Given the description of an element on the screen output the (x, y) to click on. 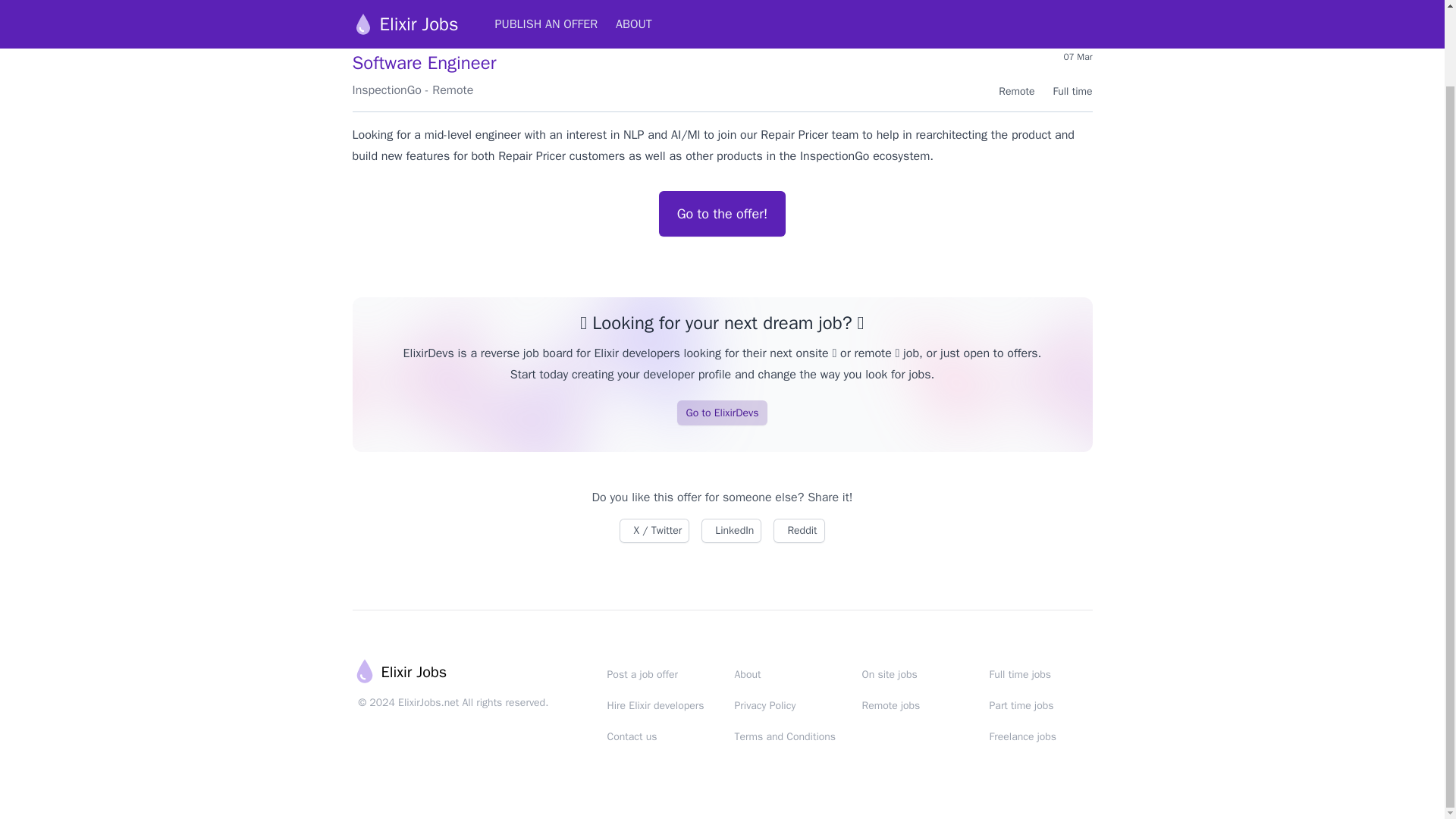
About (746, 674)
Part time jobs (1020, 705)
Privacy Policy (763, 705)
Post a job offer (642, 674)
Reddit (798, 530)
Elixir Jobs (399, 671)
Full time jobs (1019, 674)
Freelance jobs (1022, 736)
On site jobs (889, 674)
Contact us (631, 736)
